Given the description of an element on the screen output the (x, y) to click on. 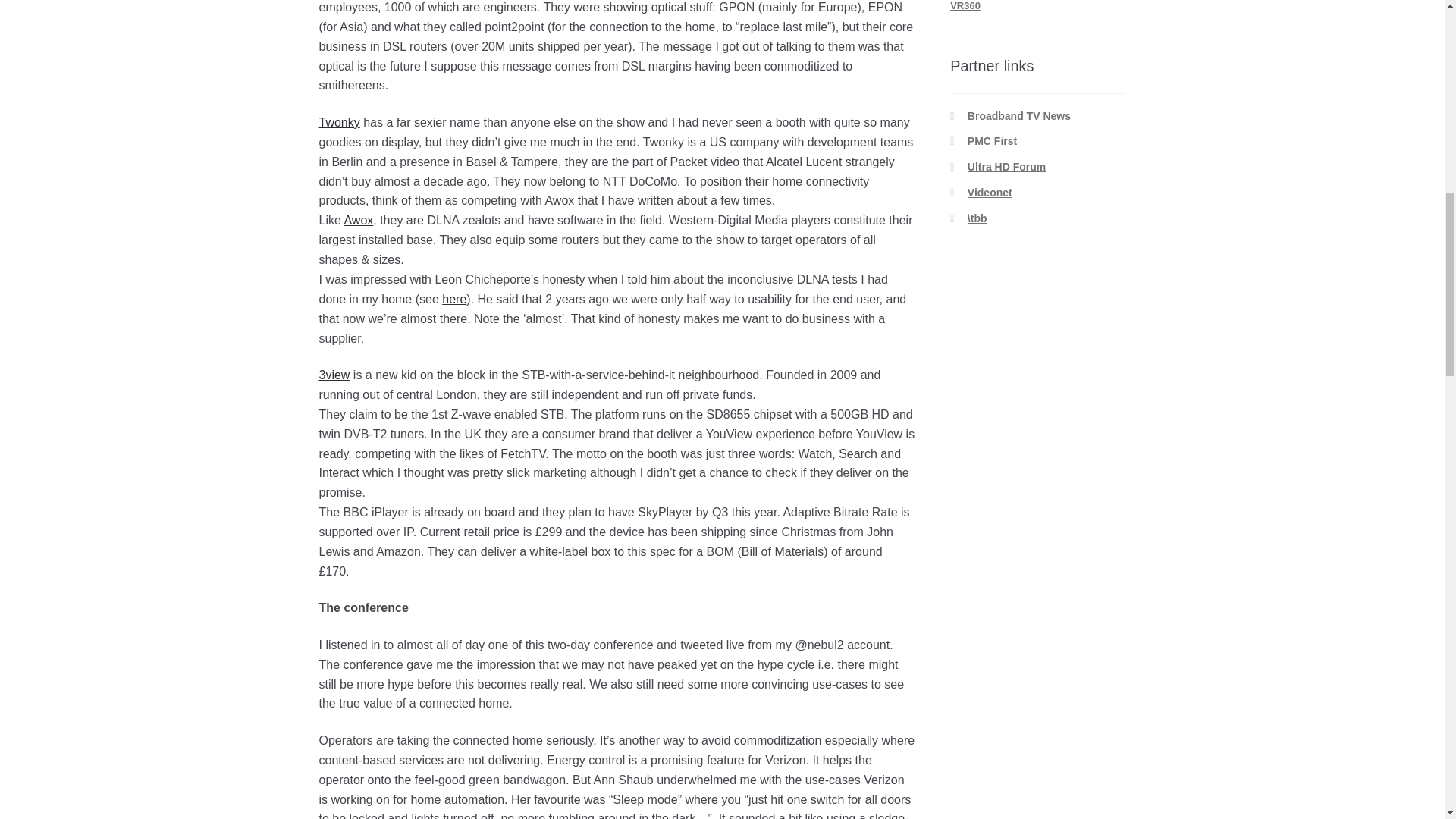
Partner company in Dubai (992, 141)
Twonky (338, 122)
3view (334, 374)
here (453, 298)
Awox (357, 219)
